Given the description of an element on the screen output the (x, y) to click on. 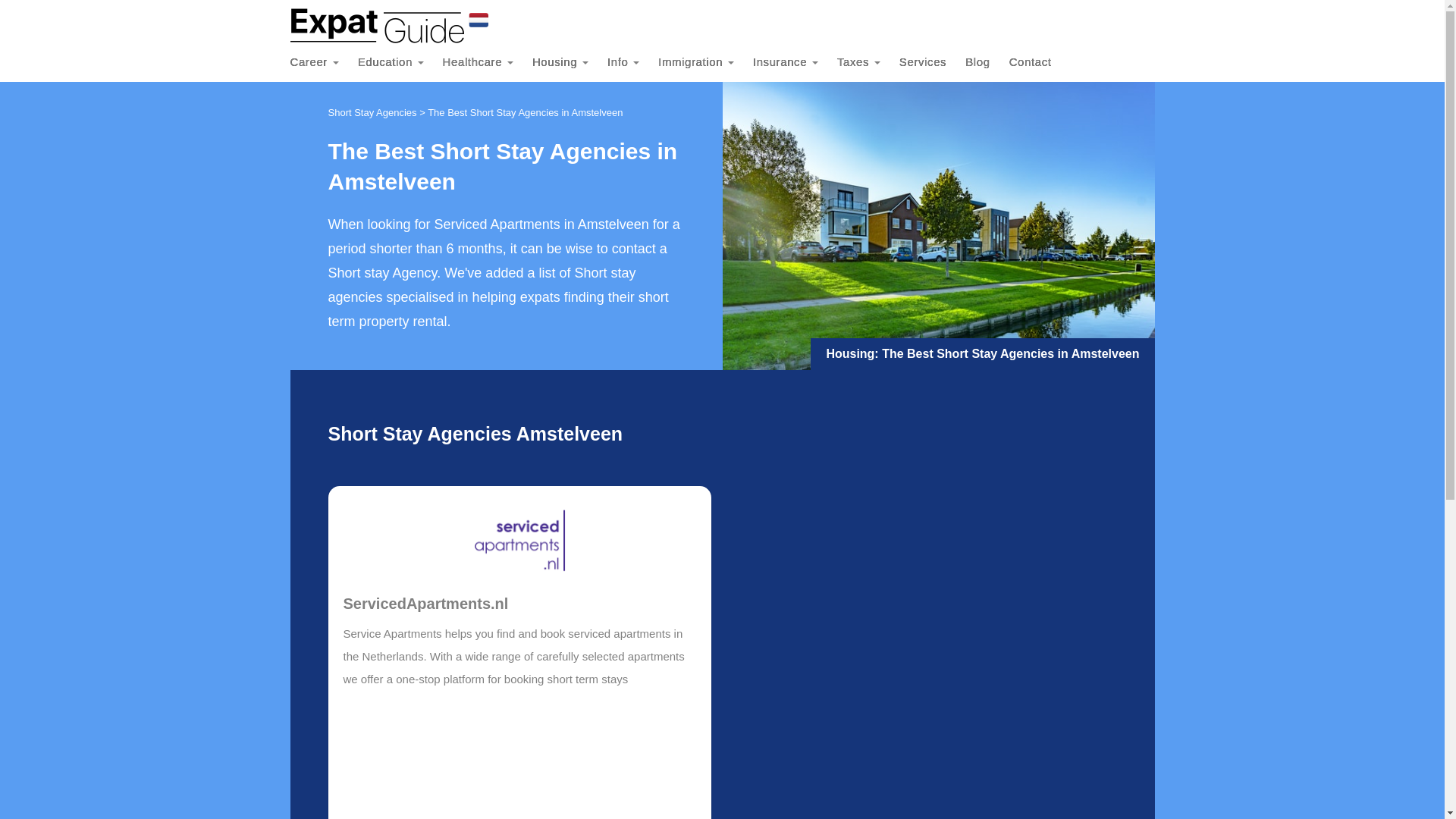
Career (322, 61)
Healthcare (487, 61)
Education (400, 61)
Housing (569, 61)
